Given the description of an element on the screen output the (x, y) to click on. 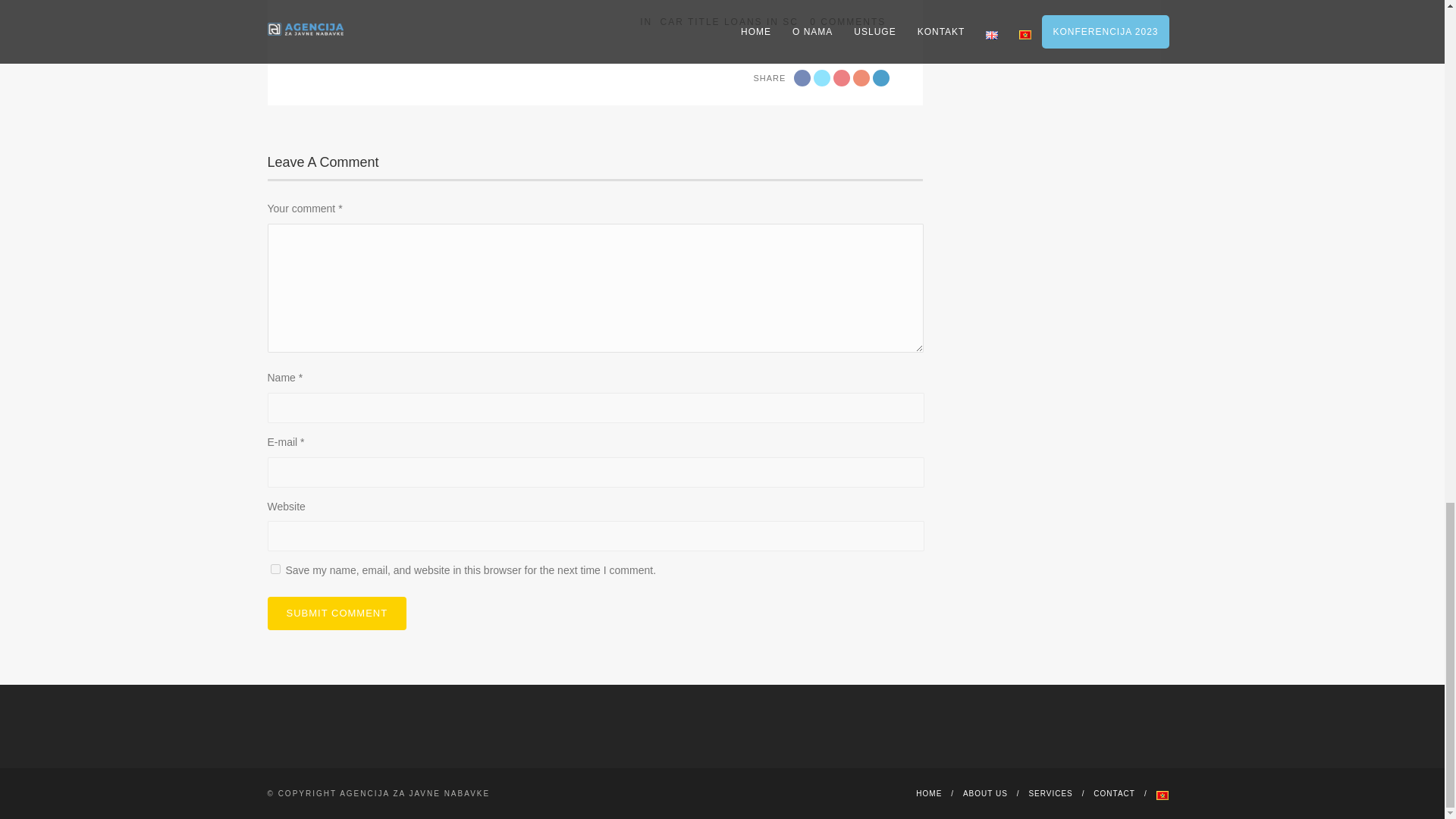
Pinterest (861, 77)
Submit comment (336, 613)
Twitter (821, 77)
CONTACT (1114, 793)
LinkedIn (880, 77)
Submit comment (336, 613)
ABOUT US (984, 793)
CAR TITLE LOANS IN SC (728, 21)
SERVICES (1049, 793)
0 COMMENTS (847, 21)
HOME (928, 793)
yes (274, 569)
Facebook (801, 77)
